Given the description of an element on the screen output the (x, y) to click on. 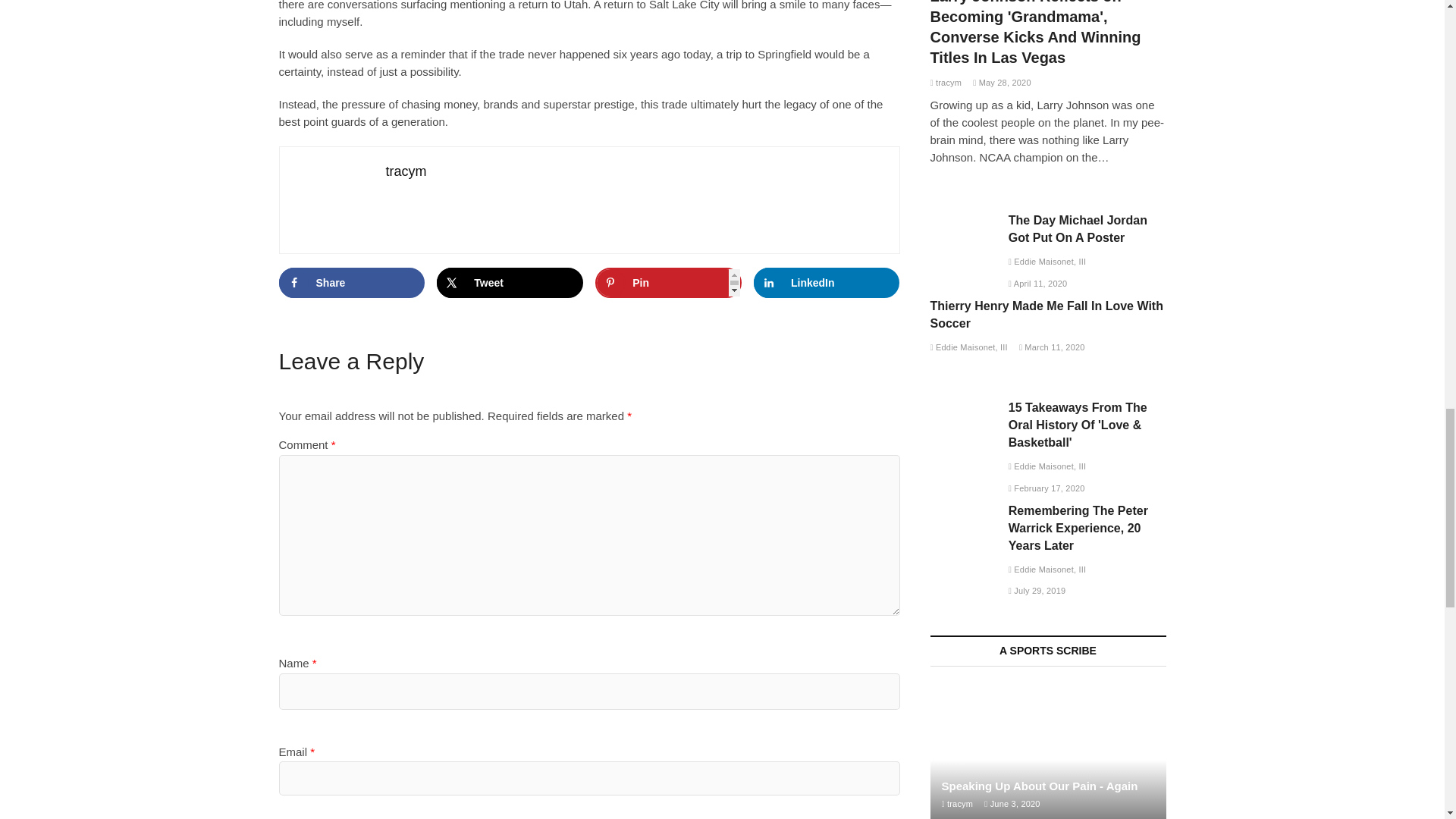
Share on LinkedIn (826, 282)
Save to Pinterest (668, 282)
Share on Facebook (352, 282)
Share on X (509, 282)
